Given the description of an element on the screen output the (x, y) to click on. 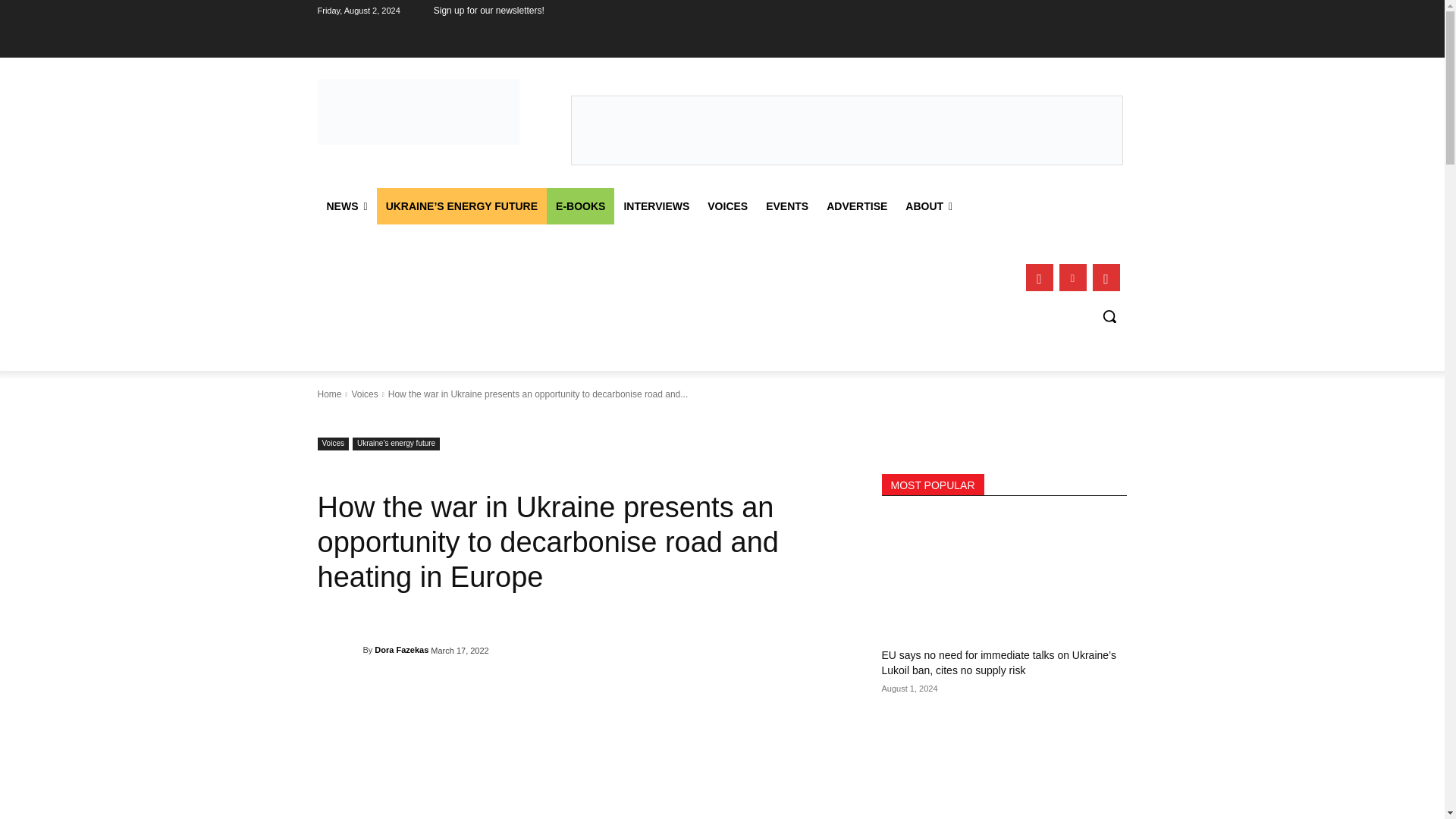
CEENERGYNEWS logo (418, 111)
Twitter (1105, 277)
View all posts in Voices (363, 394)
NEWS (346, 206)
Linkedin (1072, 277)
Facebook (1038, 277)
Sign up for our newsletters! (489, 10)
